Given the description of an element on the screen output the (x, y) to click on. 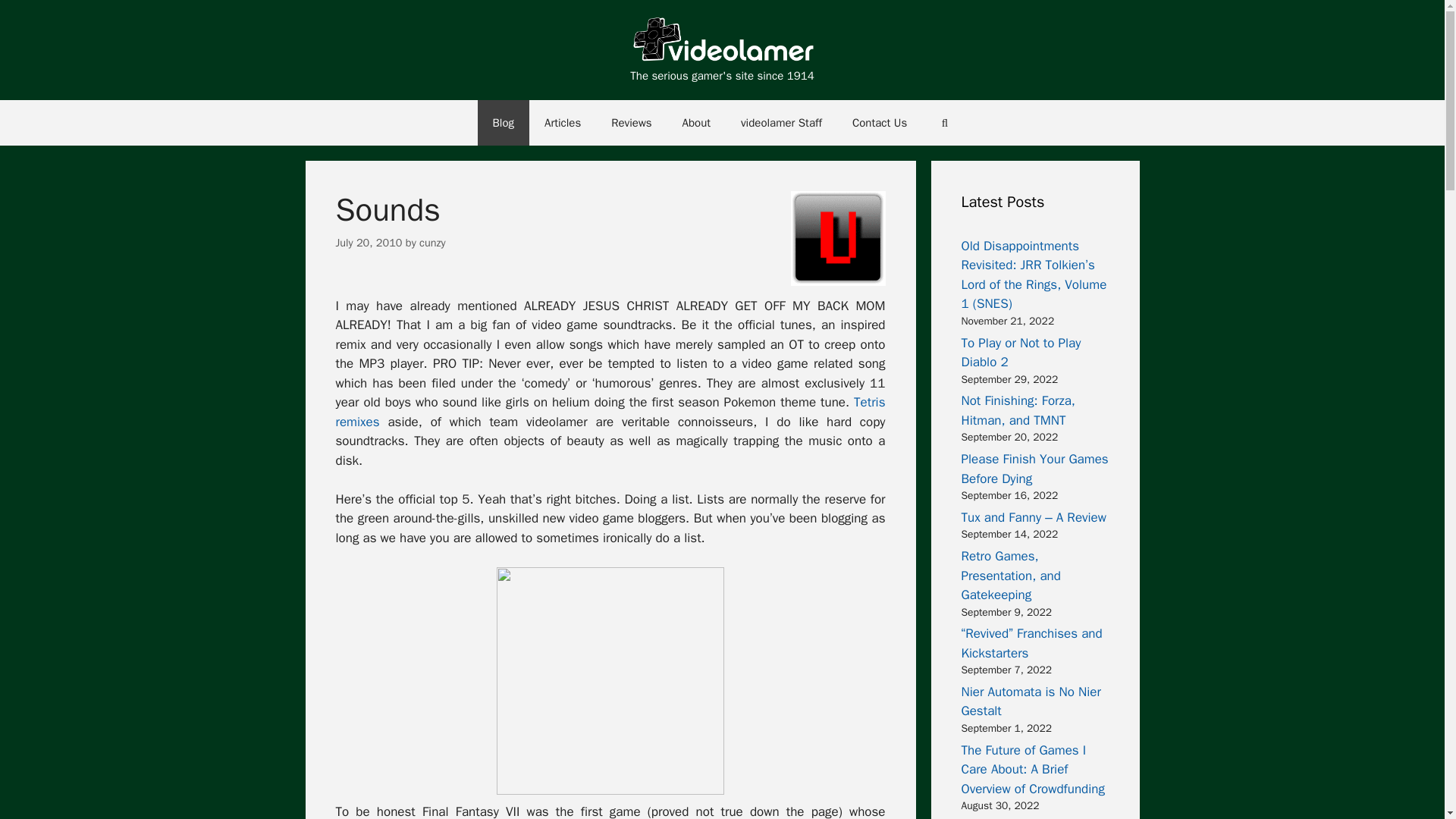
About (695, 122)
videolamer (721, 40)
videolamer Staff (781, 122)
cunzy (432, 242)
Reviews (630, 122)
Blog (503, 122)
Tetris remixes (609, 411)
Articles (562, 122)
cunzy (837, 237)
View all posts by cunzy (432, 242)
Contact Us (879, 122)
videolamer (721, 41)
